Given the description of an element on the screen output the (x, y) to click on. 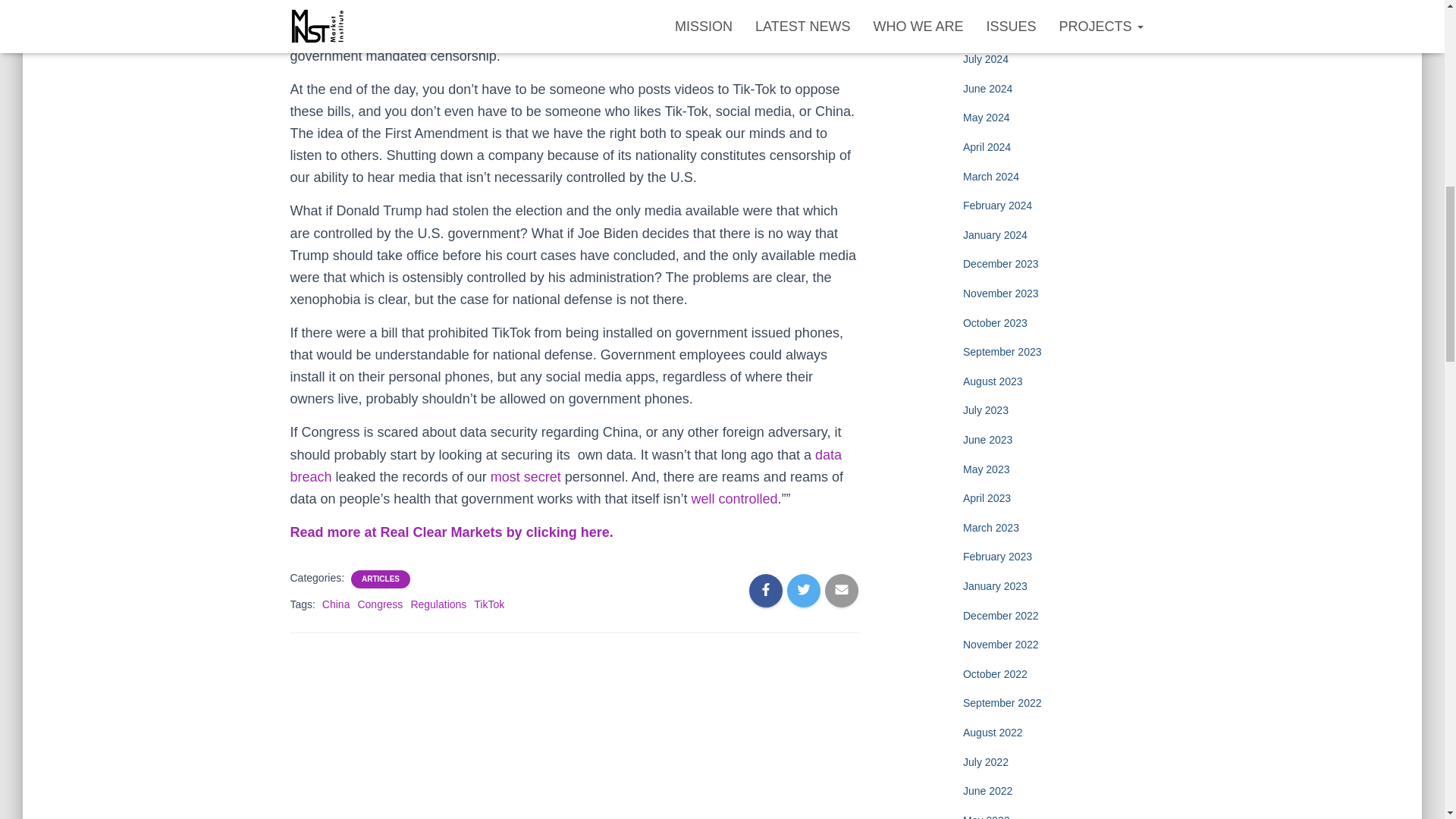
November 2023 (1000, 293)
March 2024 (990, 176)
China (335, 604)
data breach (565, 465)
June 2024 (986, 88)
ARTICLES (380, 579)
well controlled (733, 498)
August 2023 (992, 381)
most secret (525, 476)
April 2024 (986, 146)
